Given the description of an element on the screen output the (x, y) to click on. 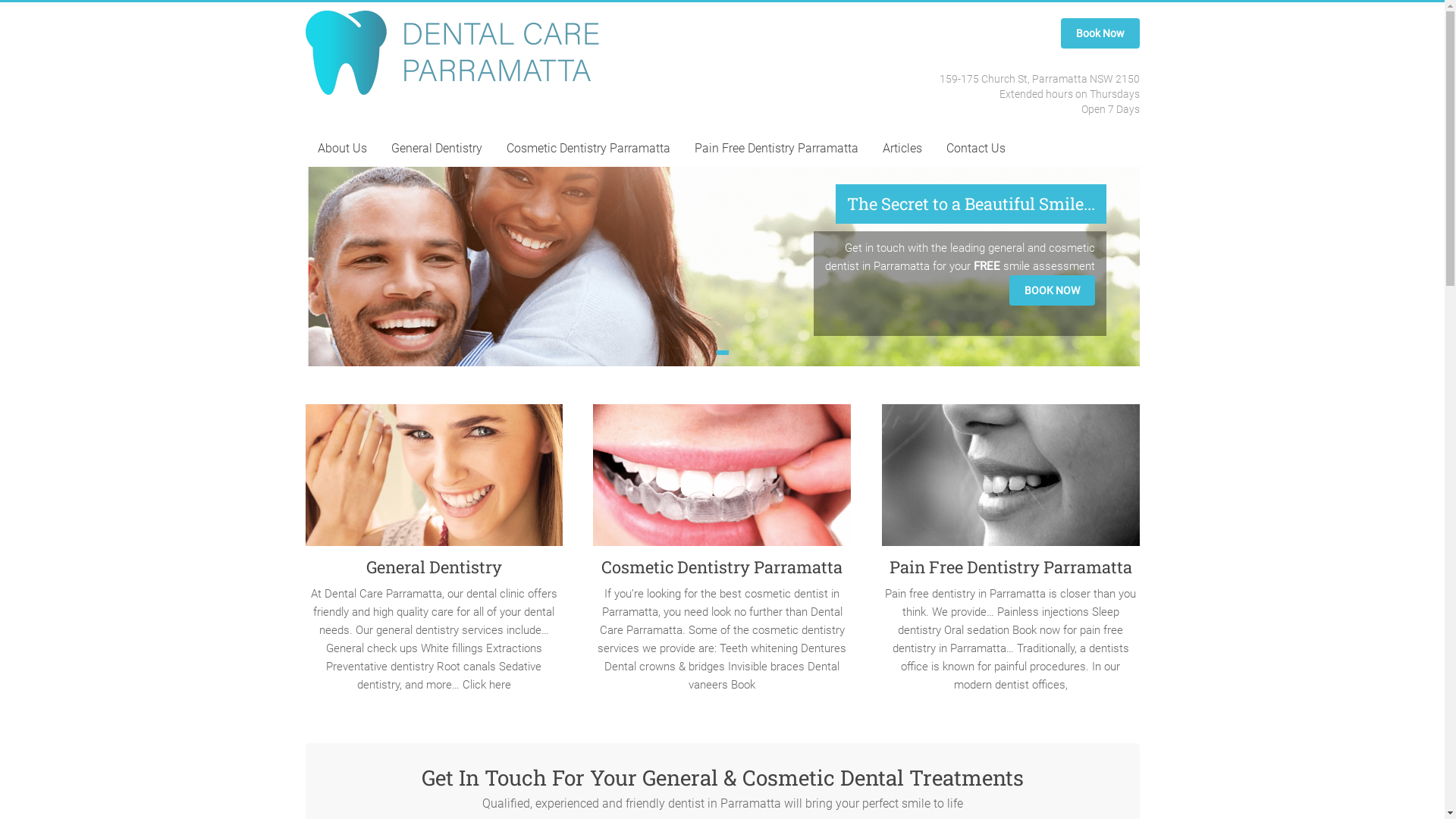
Pain Free Dentistry Parramatta Element type: text (776, 148)
Book Now Element type: text (1099, 33)
General Dentistry Element type: hover (433, 480)
Contact Us Element type: text (975, 148)
General Dentistry Element type: text (434, 566)
BOOK NOW Element type: text (1051, 290)
Articles Element type: text (902, 148)
Book Now Element type: text (1099, 33)
Cosmetic Dentistry Parramatta Element type: text (588, 148)
Pain Free Dentistry Parramatta Element type: text (1009, 566)
Cosmetic Dentistry Parramatta Element type: text (721, 566)
Cosmetic Dentistry Parramatta Element type: hover (721, 480)
General Dentistry Element type: text (436, 148)
The Secret to a Beautiful Smile... Element type: text (970, 203)
About Us Element type: text (341, 148)
Dental Care Parramatta Element type: text (377, 60)
Pain Free Dentistry Parramatta Element type: hover (1010, 480)
BOOK NOW Element type: text (1051, 290)
